Given the description of an element on the screen output the (x, y) to click on. 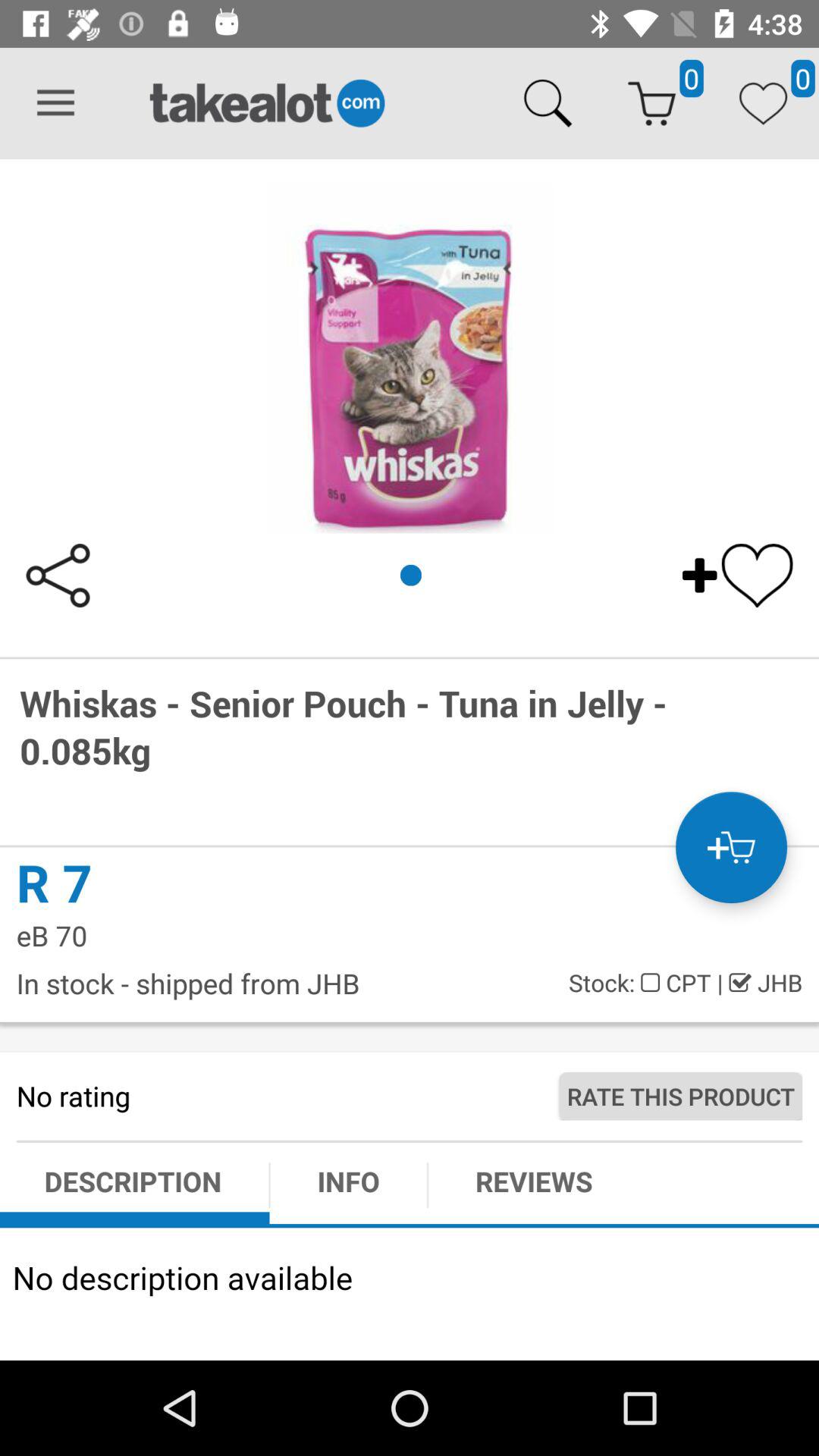
add more to cart (731, 847)
